Given the description of an element on the screen output the (x, y) to click on. 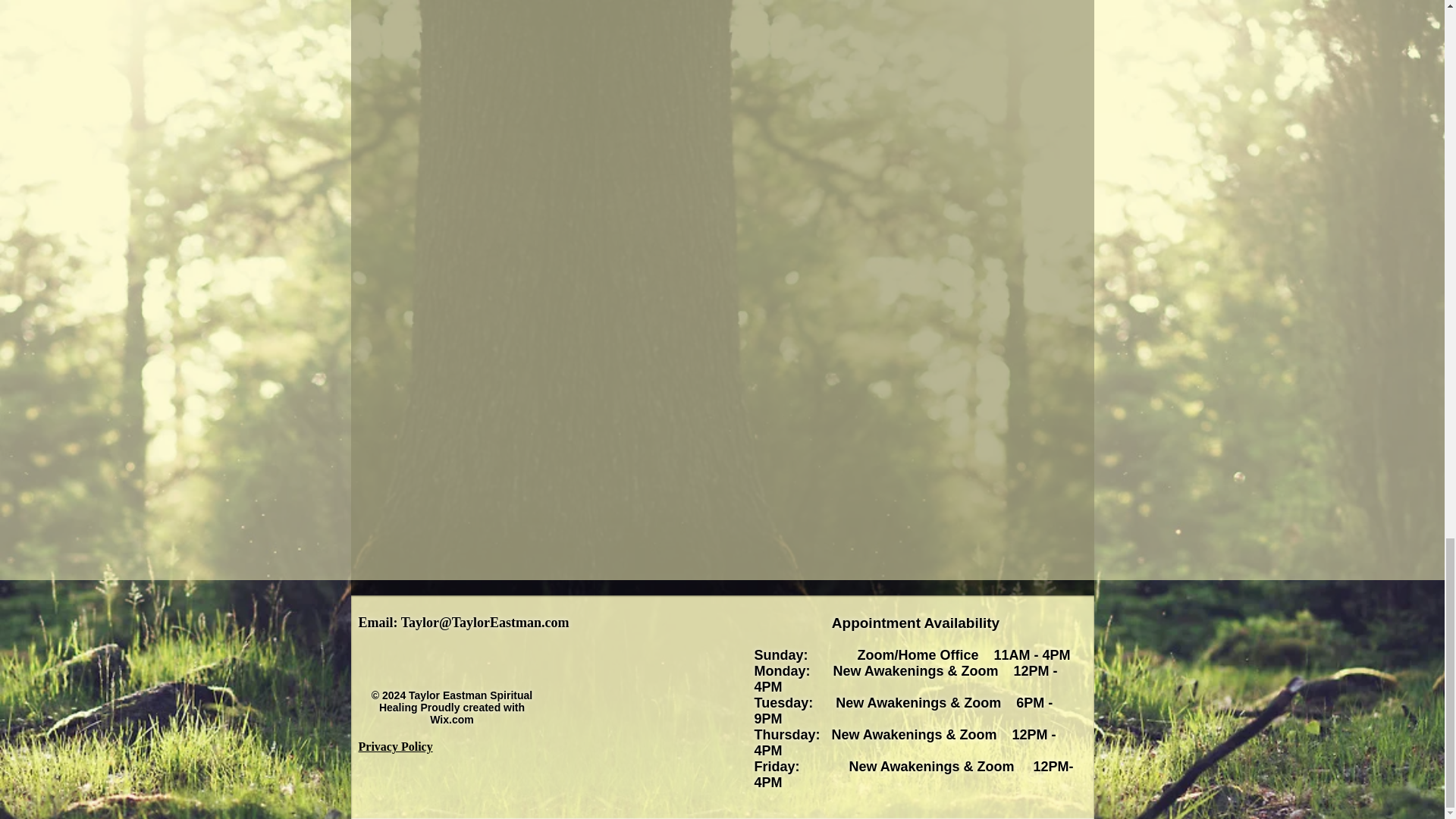
Privacy Policy (395, 746)
Wix.com (451, 719)
